Given the description of an element on the screen output the (x, y) to click on. 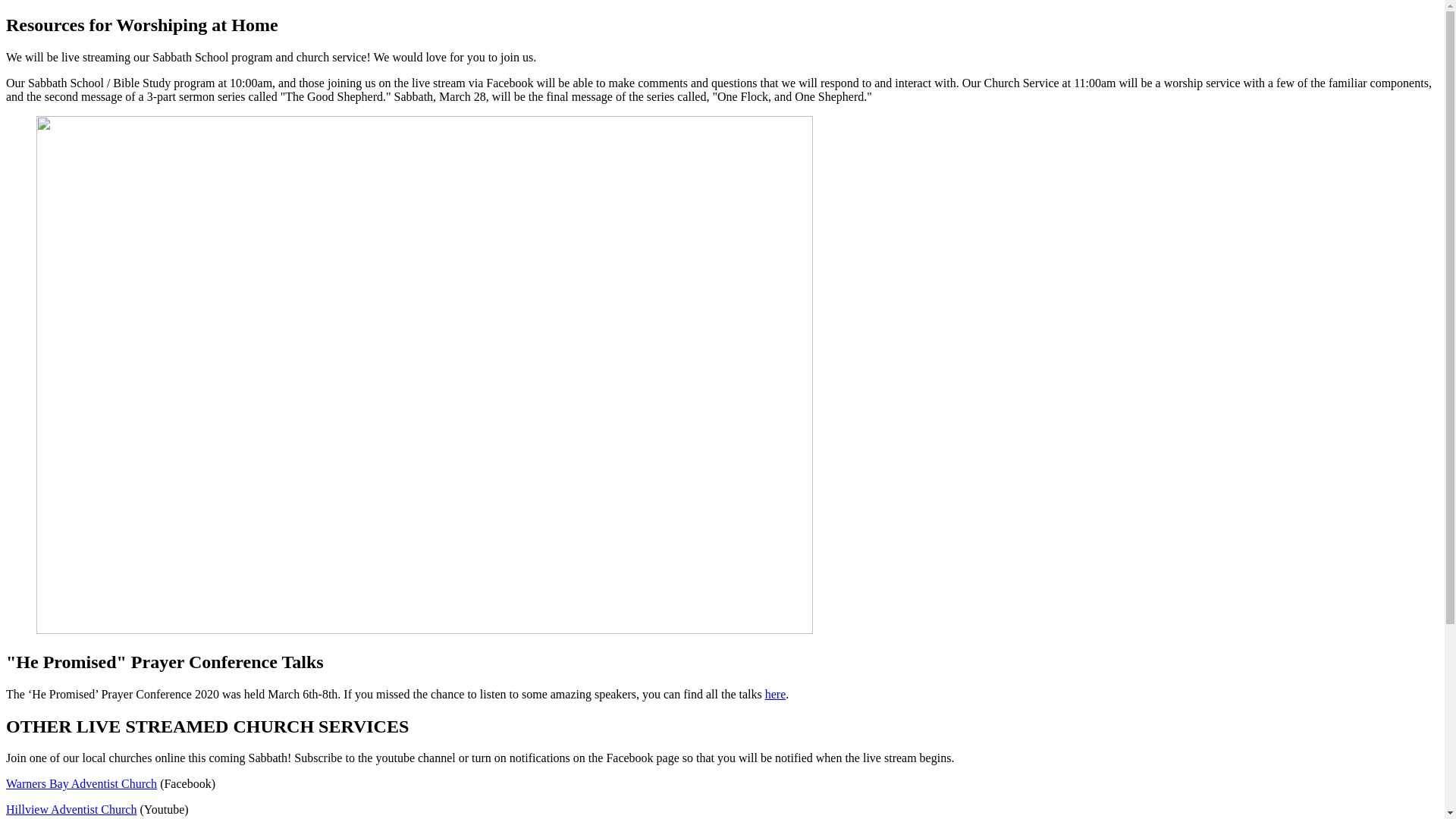
here Element type: text (775, 693)
Hillview Adventist Church Element type: text (71, 809)
Warners Bay Adventist Church Element type: text (81, 783)
